Given the description of an element on the screen output the (x, y) to click on. 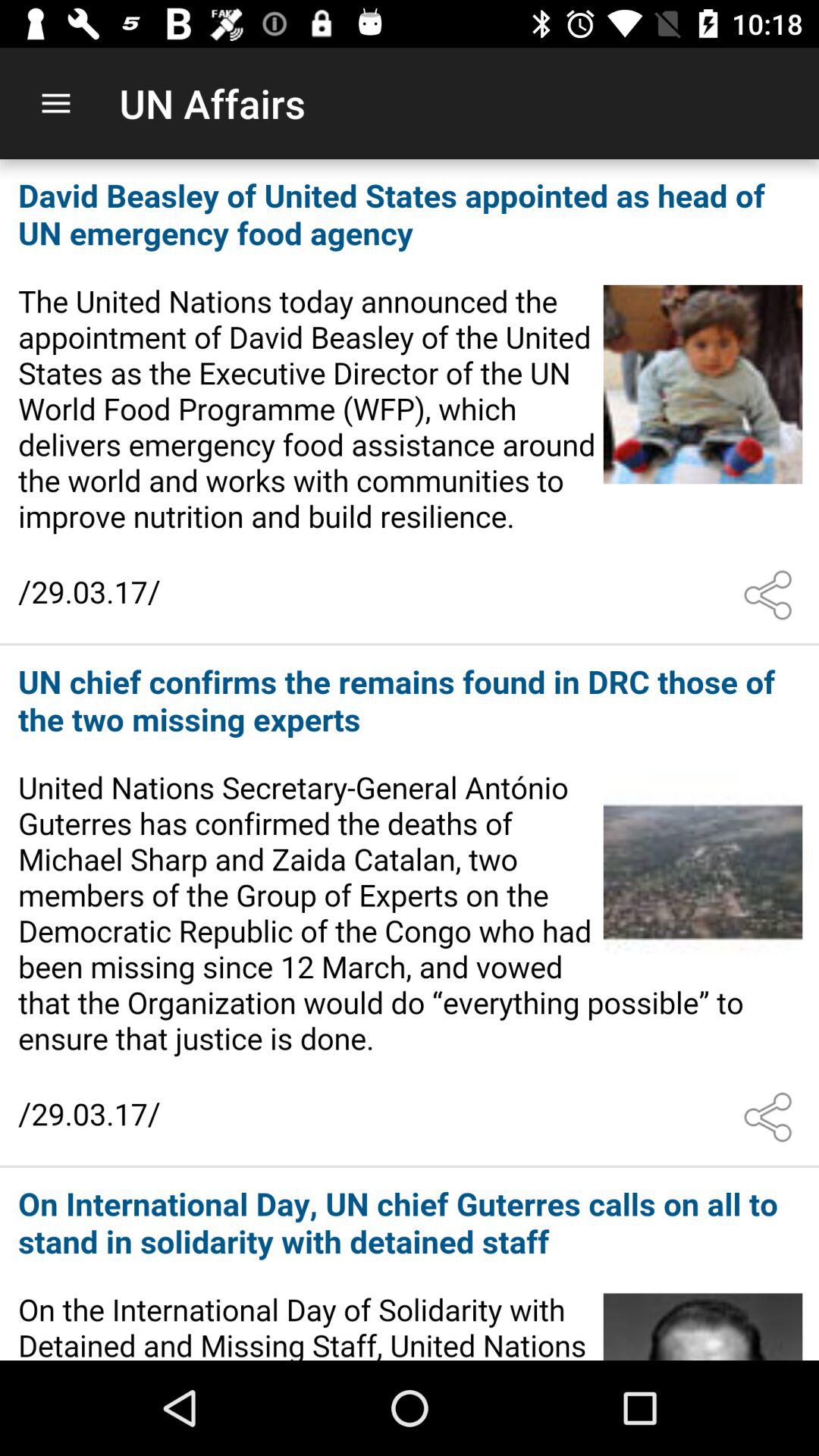
open link (409, 1264)
